Given the description of an element on the screen output the (x, y) to click on. 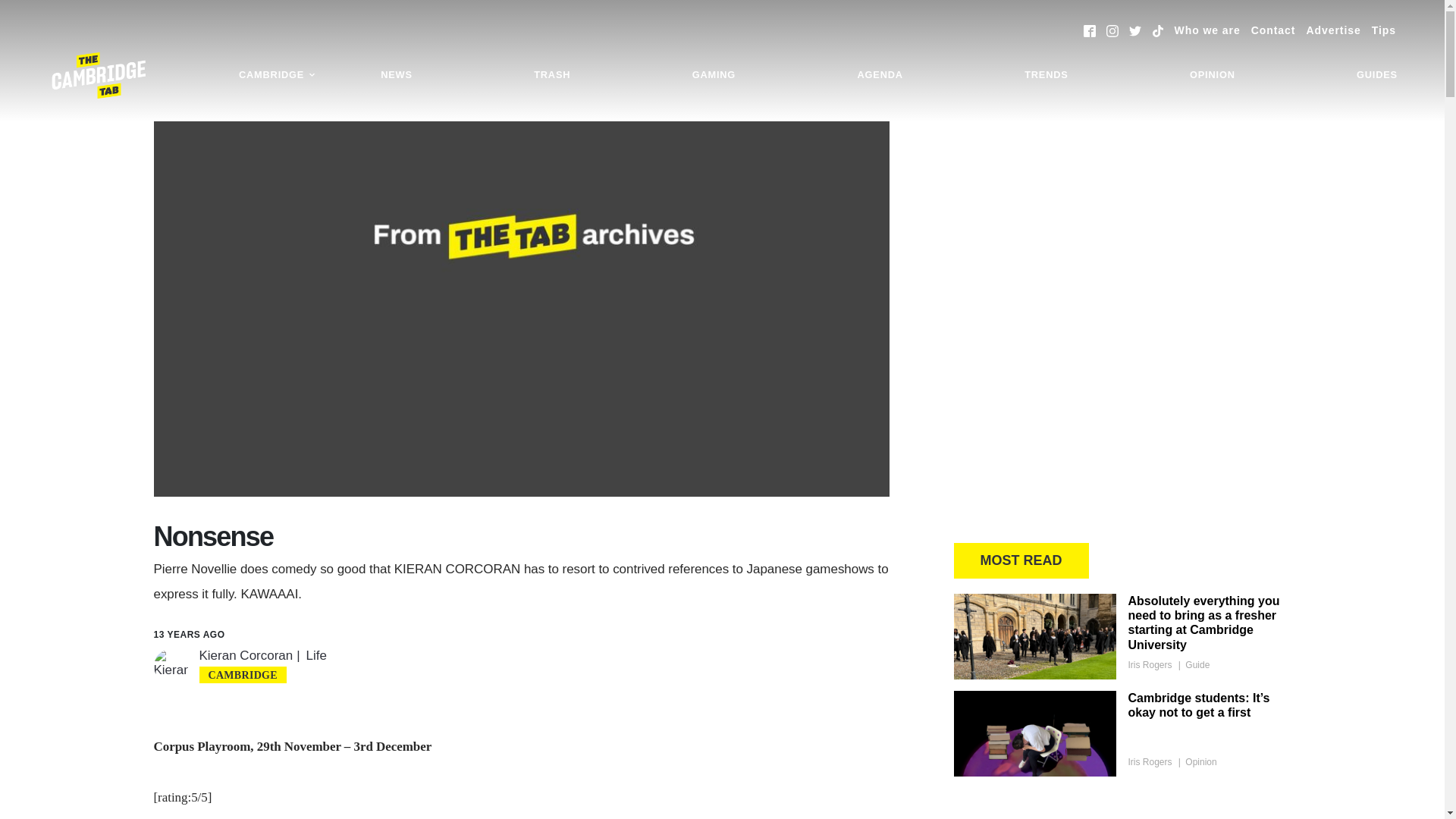
TRASH (551, 75)
Who we are (1207, 29)
CAMBRIDGE (277, 75)
OPINION (1211, 75)
NEWS (396, 75)
GAMING (713, 75)
Tips (1383, 29)
AGENDA (879, 75)
TRENDS (1045, 75)
GUIDES (1377, 75)
